Given the description of an element on the screen output the (x, y) to click on. 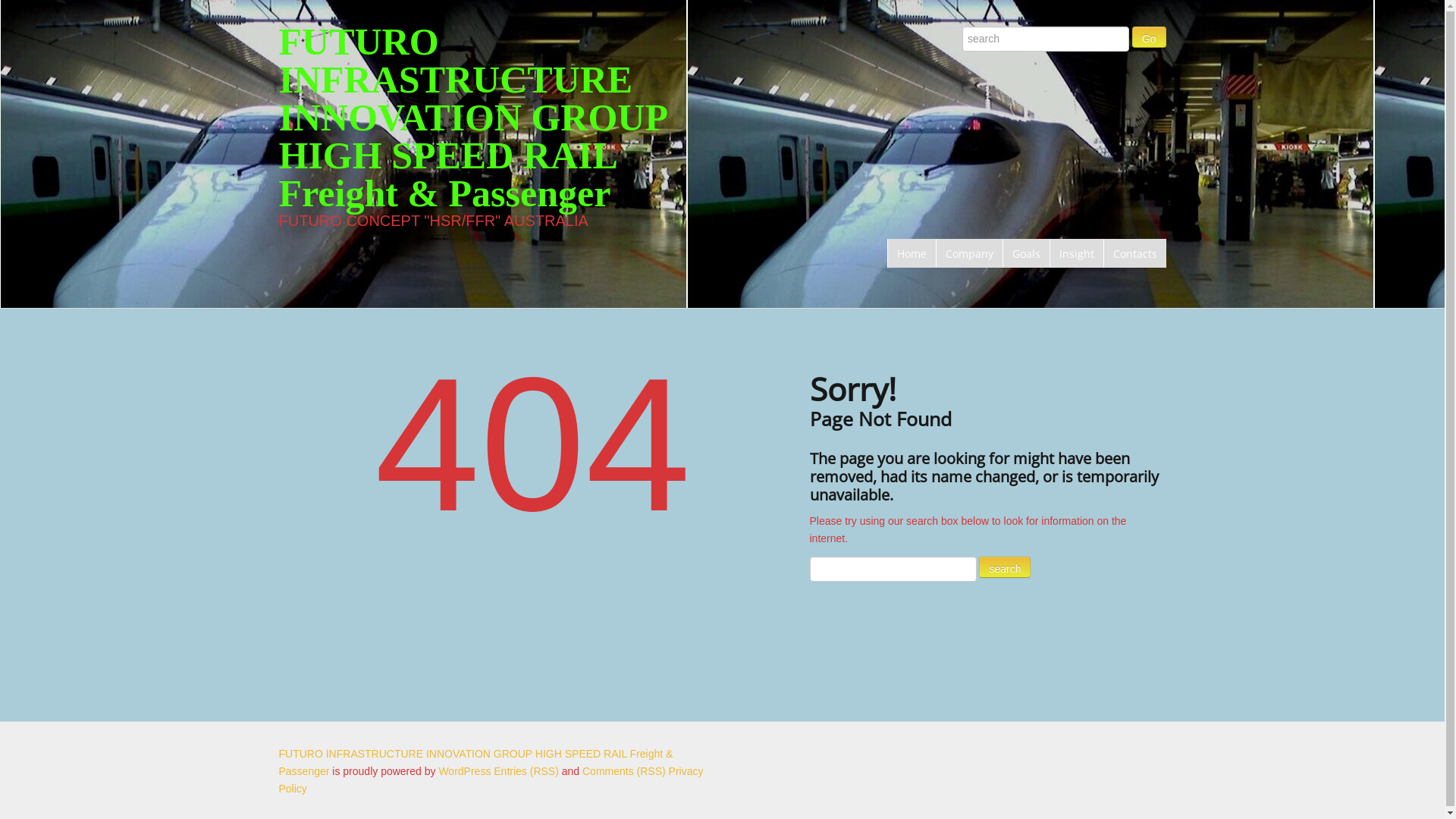
Contacts Element type: text (1133, 252)
search Element type: text (1004, 566)
Goals Element type: text (1025, 252)
Entries (RSS) Element type: text (525, 771)
WordPress Element type: text (464, 771)
Go Element type: text (1149, 36)
Comments (RSS) Element type: text (623, 771)
Insight Element type: text (1076, 252)
Home Element type: text (911, 252)
Company Element type: text (968, 252)
Privacy Policy Element type: text (491, 779)
